Given the description of an element on the screen output the (x, y) to click on. 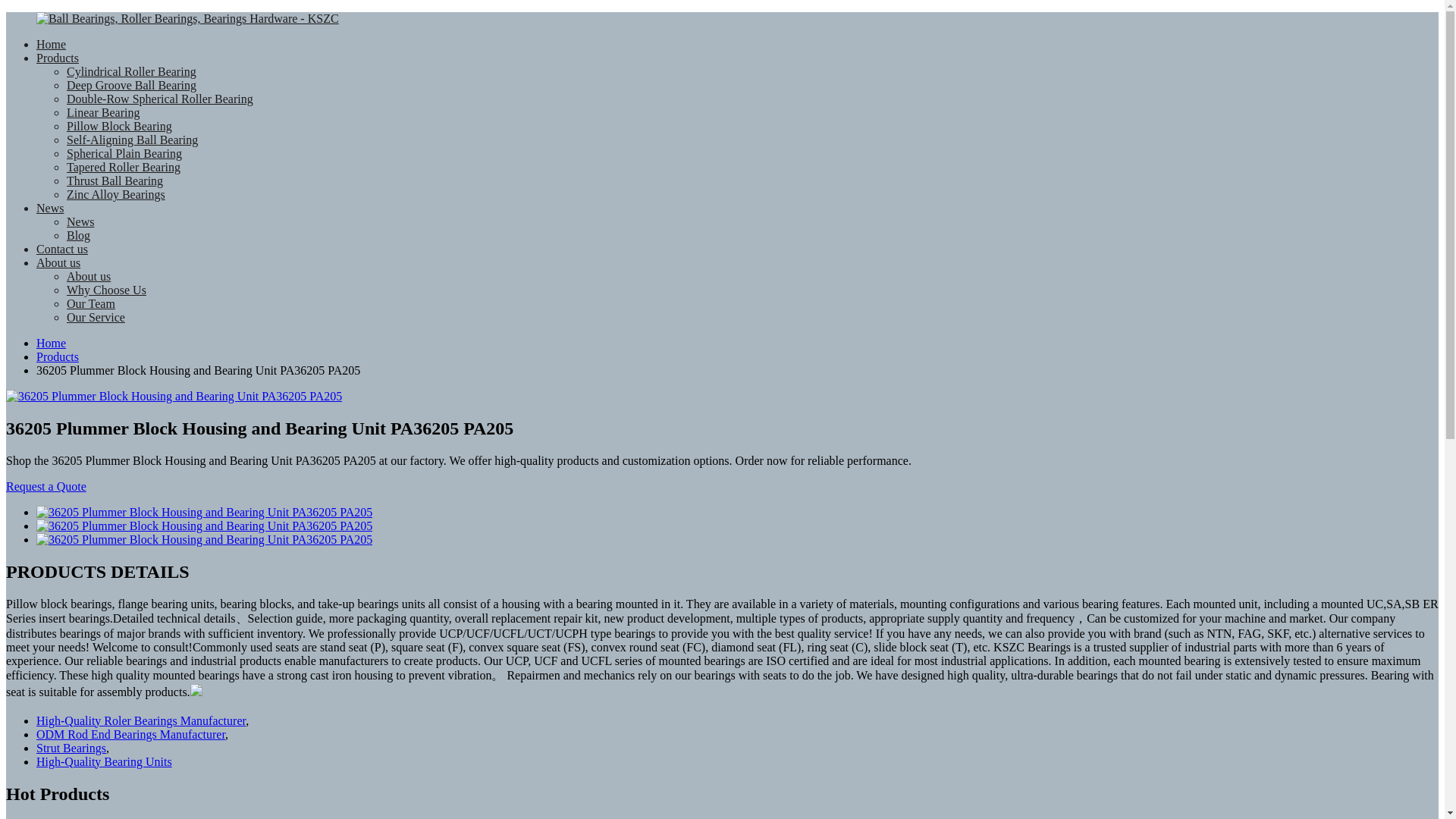
Self-Aligning Ball Bearing (132, 139)
Strut Bearings (71, 748)
ODM Rod End Bearings Manufacturer (130, 734)
High-Quality Bearing Units (103, 761)
Blog (78, 235)
Thrust Ball Bearing (114, 180)
Zinc Alloy Bearings (115, 194)
Deep Groove Ball Bearing (131, 84)
Cylindrical Roller Bearing (131, 71)
Home (50, 342)
About us (88, 276)
Request a Quote (45, 486)
Pillow Block Bearing (118, 125)
Spherical Plain Bearing (124, 153)
Our Service (95, 317)
